Given the description of an element on the screen output the (x, y) to click on. 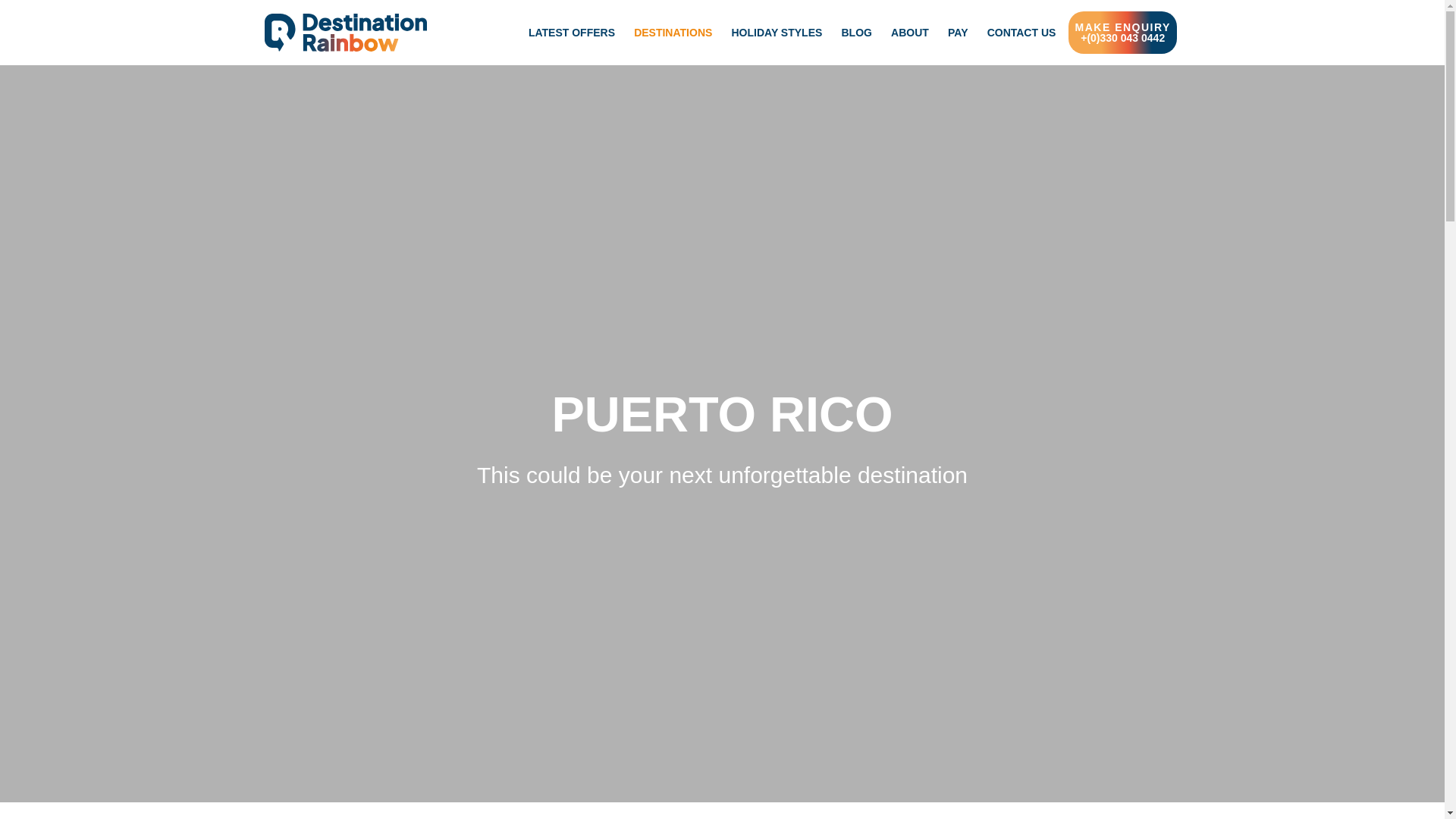
ABOUT (910, 32)
Destination Rainbow (494, 38)
HOLIDAY STYLES (776, 32)
CONTACT US (1020, 32)
LATEST OFFERS (571, 32)
BLOG (855, 32)
DESTINATIONS (673, 32)
